Given the description of an element on the screen output the (x, y) to click on. 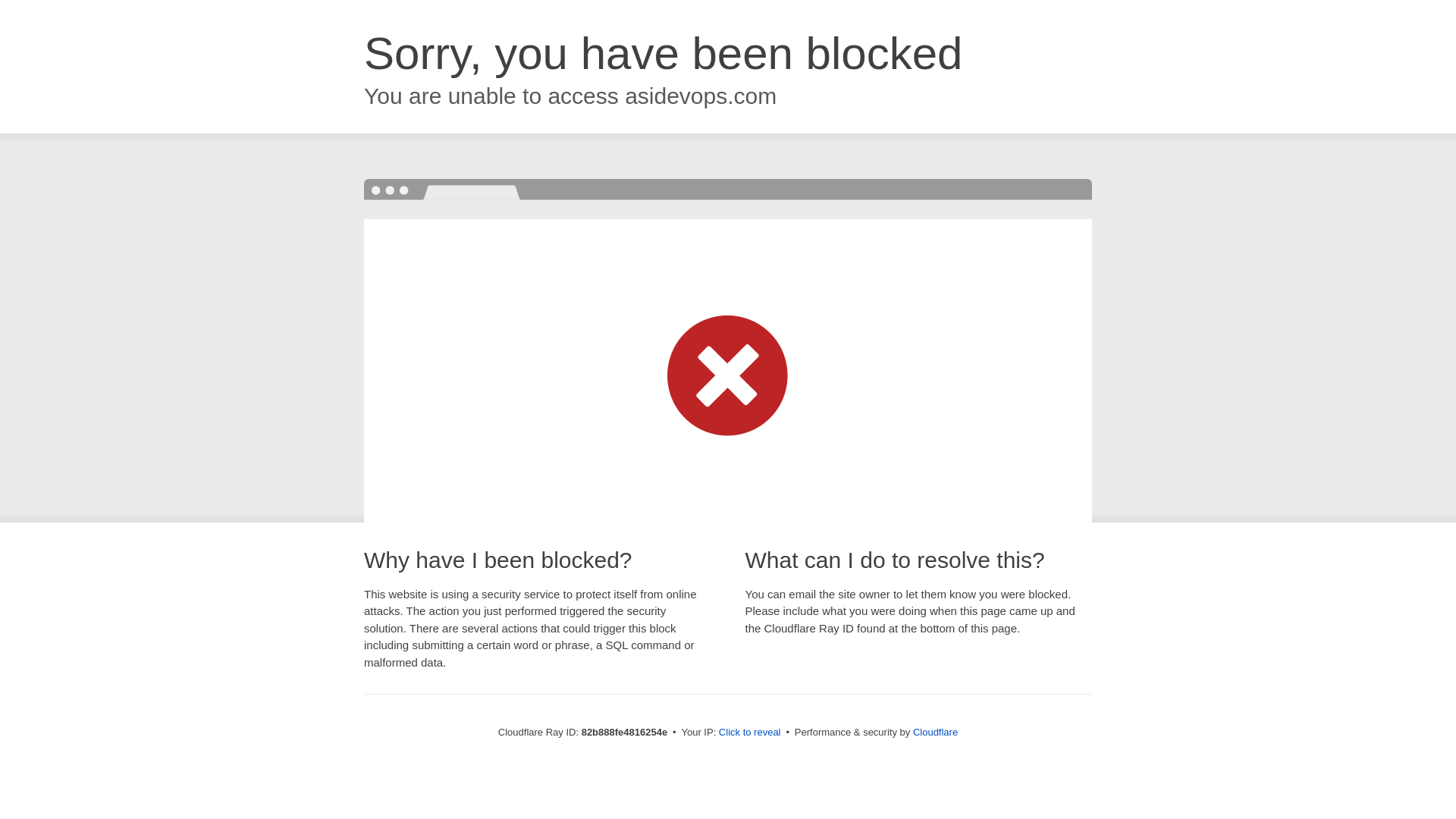
Cloudflare Element type: text (935, 731)
Click to reveal Element type: text (749, 732)
